Given the description of an element on the screen output the (x, y) to click on. 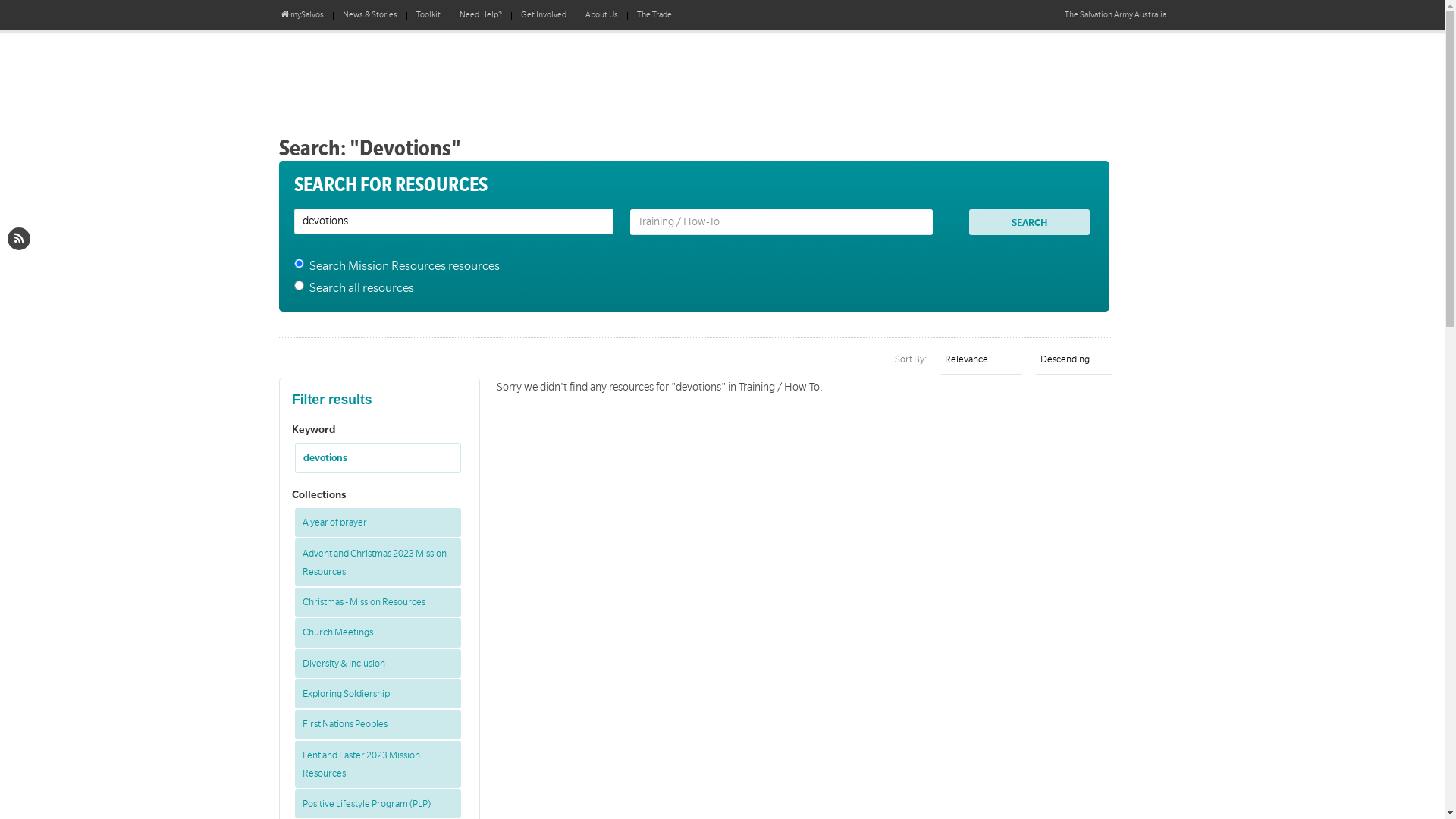
Get Involved Element type: text (543, 14)
Church Meetings Element type: text (377, 632)
Advent and Christmas 2023 Mission Resources Element type: text (377, 561)
rss Element type: hover (18, 238)
Positive Lifestyle Program (PLP) Element type: text (377, 803)
Christmas - Mission Resources Element type: text (377, 601)
A year of prayer Element type: text (377, 522)
Lent and Easter 2023 Mission Resources Element type: text (377, 763)
Toolkit Element type: text (428, 14)
First Nations Peoples Element type: text (377, 723)
Diversity & Inclusion Element type: text (377, 663)
devotions Element type: text (377, 457)
The Trade Element type: text (654, 14)
Deselect Element type: text (443, 452)
Search Element type: text (1028, 222)
Need Help? Element type: text (480, 14)
MYSALVOS Element type: text (452, 75)
News & Stories Element type: text (369, 14)
About Us Element type: text (601, 14)
mySalvos Element type: text (301, 14)
Exploring Soldiership Element type: text (377, 693)
